Given the description of an element on the screen output the (x, y) to click on. 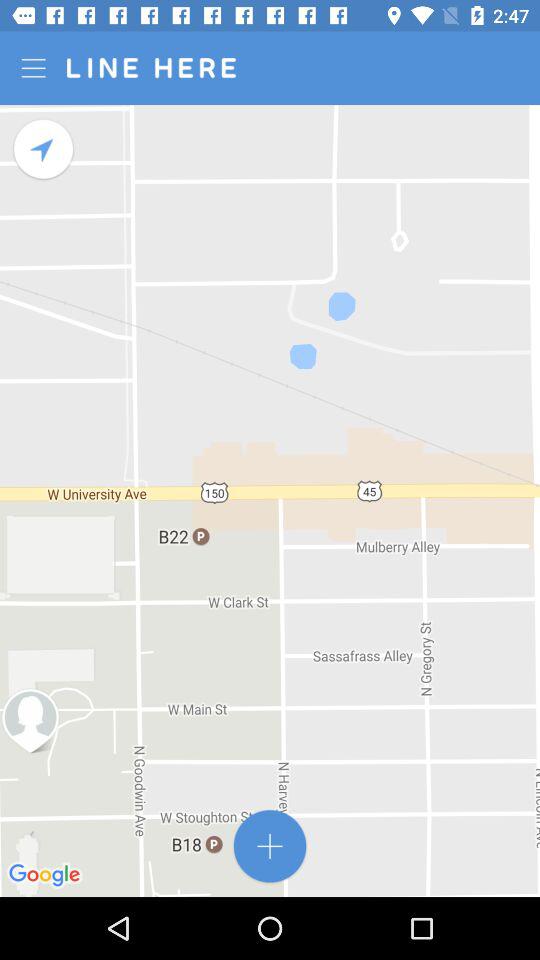
select options (35, 67)
